Given the description of an element on the screen output the (x, y) to click on. 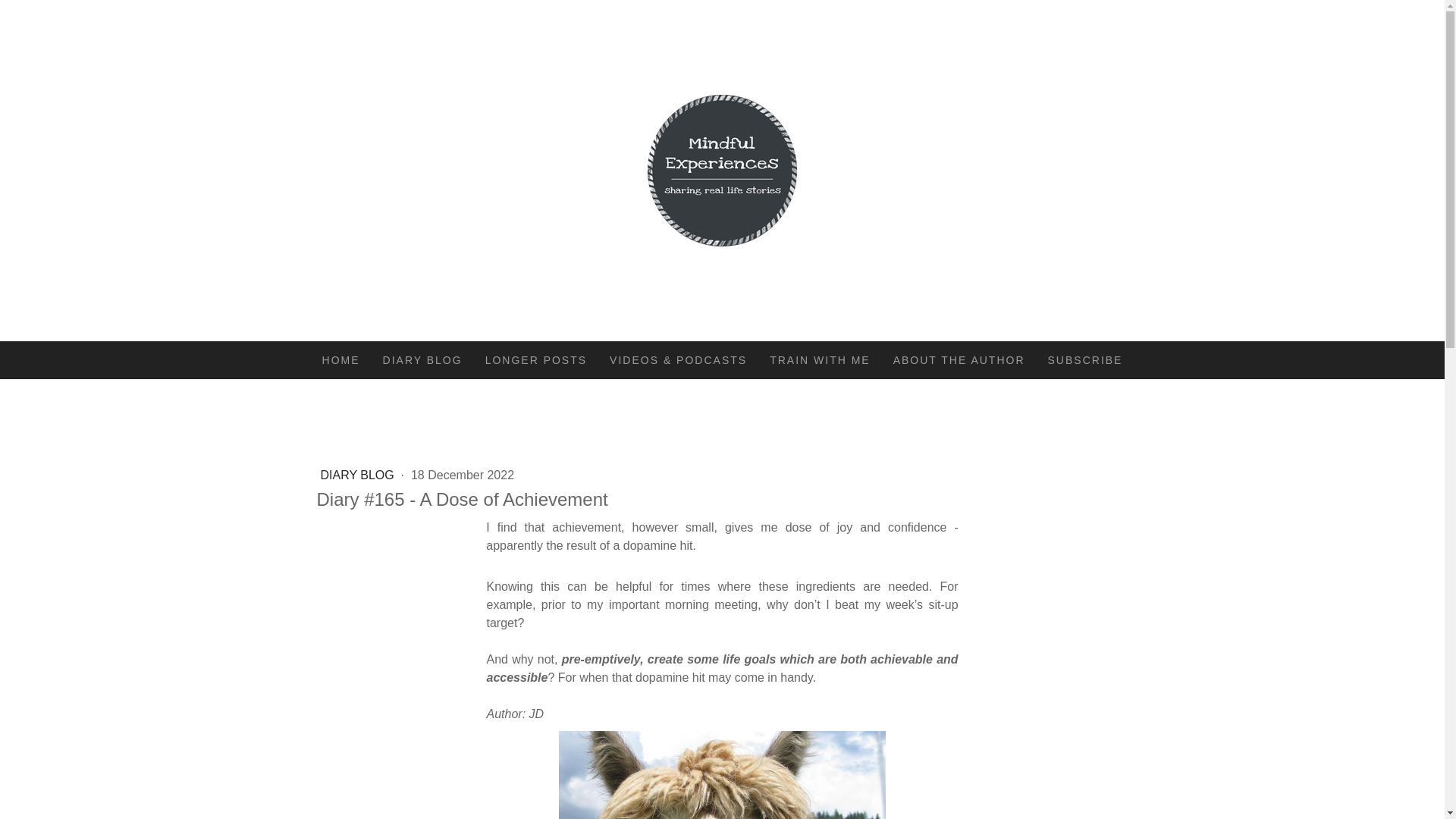
SUBSCRIBE (1085, 360)
TRAIN WITH ME (820, 360)
ABOUT THE AUTHOR (959, 360)
DIARY BLOG (358, 474)
LONGER POSTS (536, 360)
HOME (341, 360)
DIARY BLOG (422, 360)
